Given the description of an element on the screen output the (x, y) to click on. 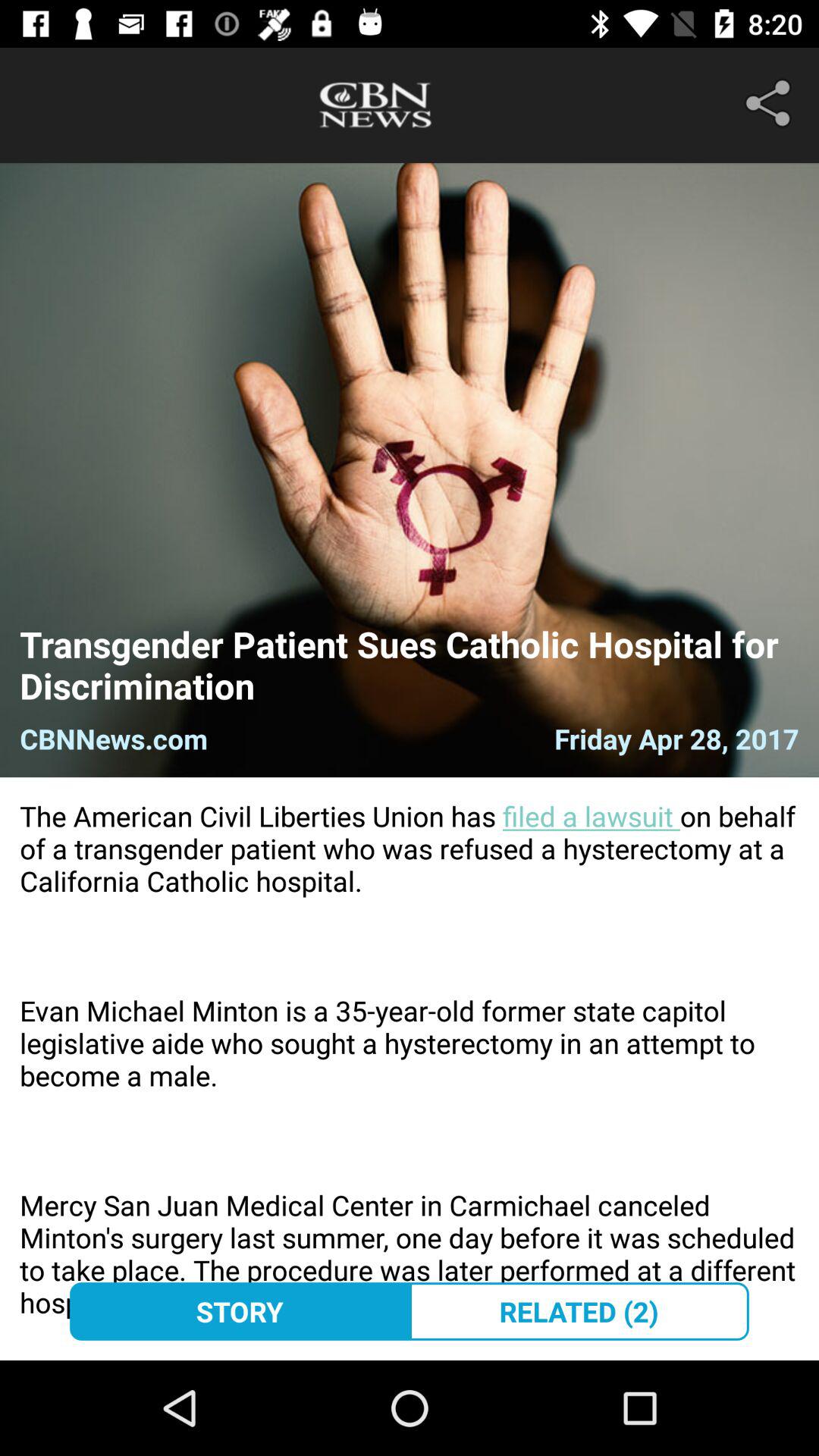
turn on the icon at the top right corner (771, 103)
